Given the description of an element on the screen output the (x, y) to click on. 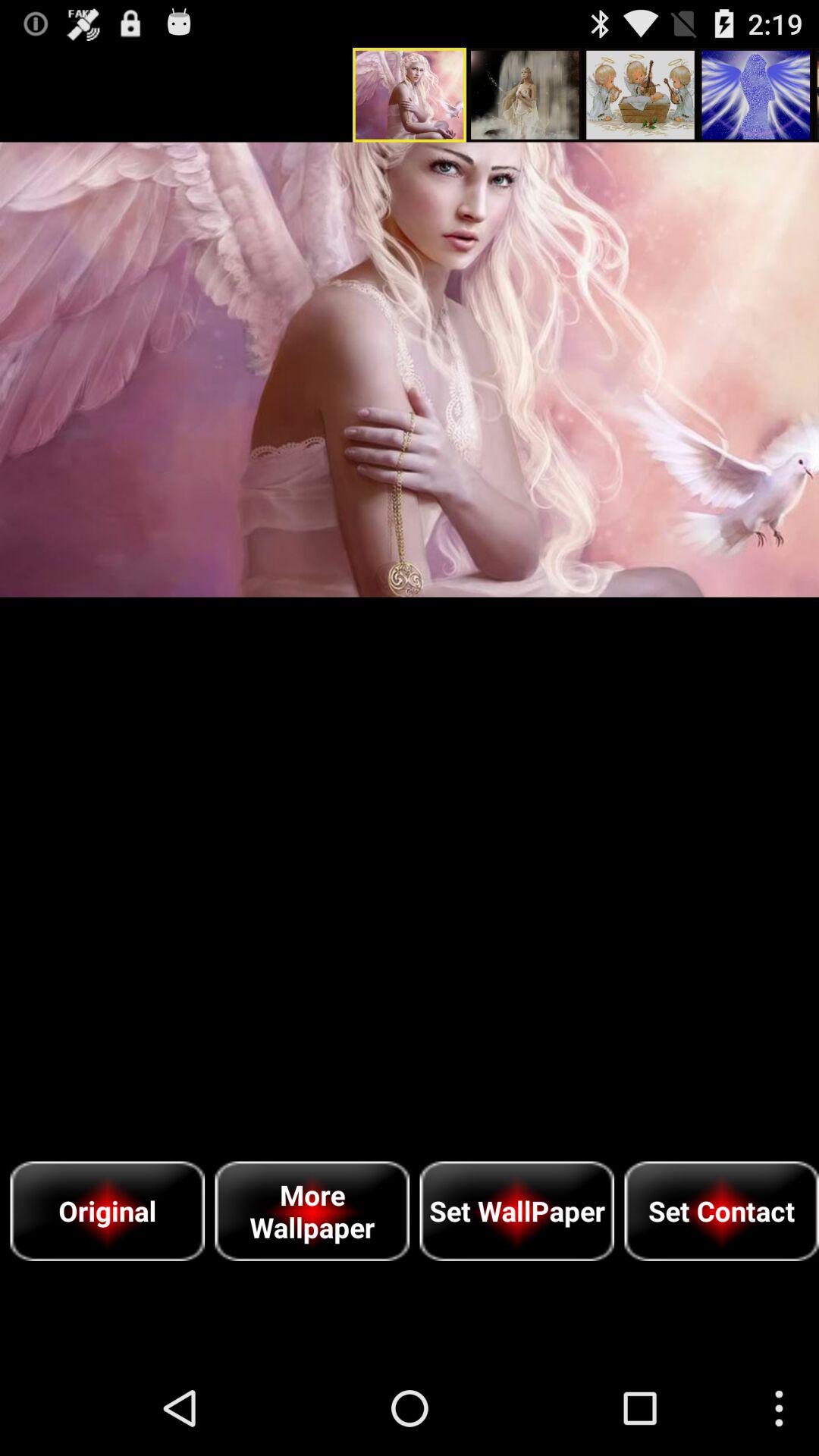
open icon above original item (409, 369)
